Given the description of an element on the screen output the (x, y) to click on. 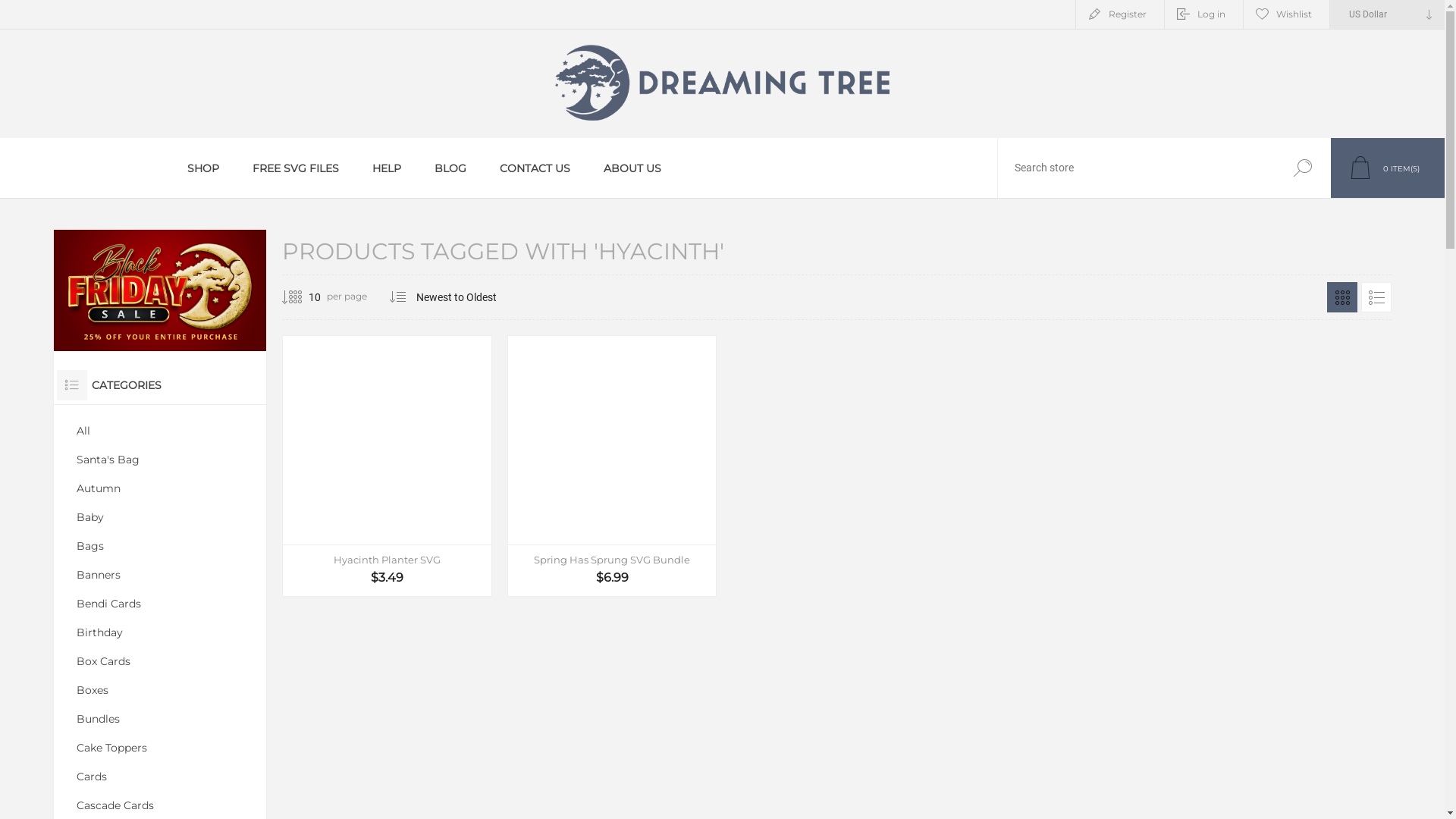
Bundles Element type: text (159, 718)
CONTACT US Element type: text (534, 167)
Santa's Bag Element type: text (159, 459)
Cards Element type: text (159, 776)
Hyacinth Planter SVG Element type: text (386, 559)
Log in Element type: text (1203, 14)
HELP Element type: text (386, 167)
0 ITEM(S) Element type: text (1387, 167)
BLOG Element type: text (450, 167)
Cake Toppers Element type: text (159, 747)
Spring Has Sprung SVG Bundle Element type: hover (612, 439)
SHOP Element type: text (202, 167)
Spring Has Sprung SVG Bundle Element type: hover (611, 439)
Grid Element type: text (1342, 297)
Search Element type: text (1302, 167)
Baby Element type: text (159, 516)
Autumn Element type: text (159, 487)
Banners Element type: text (159, 574)
FREE SVG FILES Element type: text (295, 167)
Spring Has Sprung SVG Bundle Element type: text (612, 559)
Bags Element type: text (159, 545)
Boxes Element type: text (159, 689)
Wishlist Element type: text (1286, 14)
List Element type: text (1376, 297)
Hyacinth Planter SVG Element type: hover (386, 439)
Register Element type: text (1120, 14)
Hyacinth Planter SVG Element type: hover (386, 439)
Birthday Element type: text (159, 632)
Box Cards Element type: text (159, 660)
ABOUT US Element type: text (631, 167)
Bendi Cards Element type: text (159, 603)
All Element type: text (159, 430)
